Given the description of an element on the screen output the (x, y) to click on. 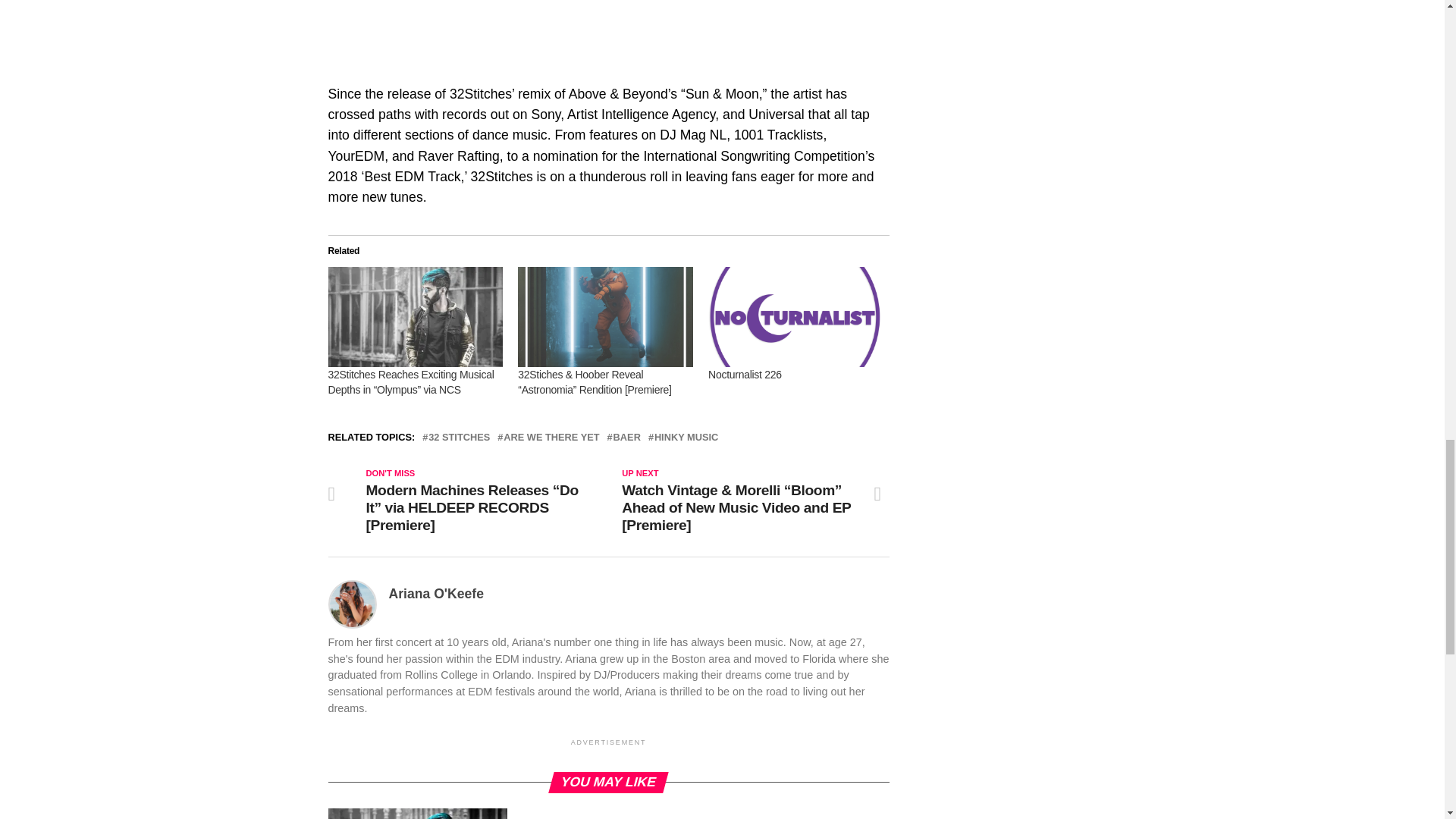
Nocturnalist 226 (795, 316)
Nocturnalist 226 (744, 374)
